Given the description of an element on the screen output the (x, y) to click on. 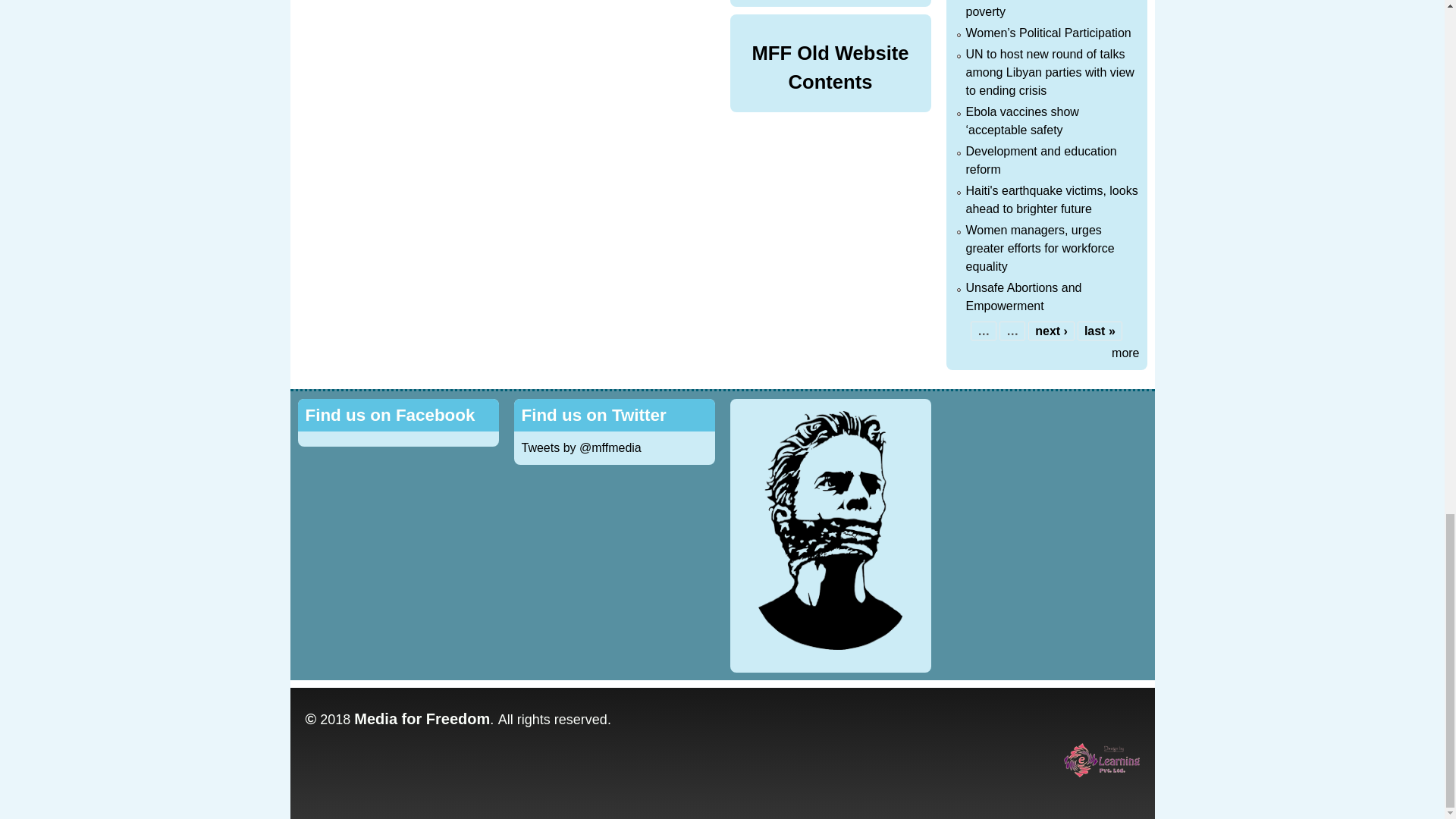
Go to last page (1099, 330)
Go to next page (1051, 330)
MFF Old Website Contents (829, 67)
